Given the description of an element on the screen output the (x, y) to click on. 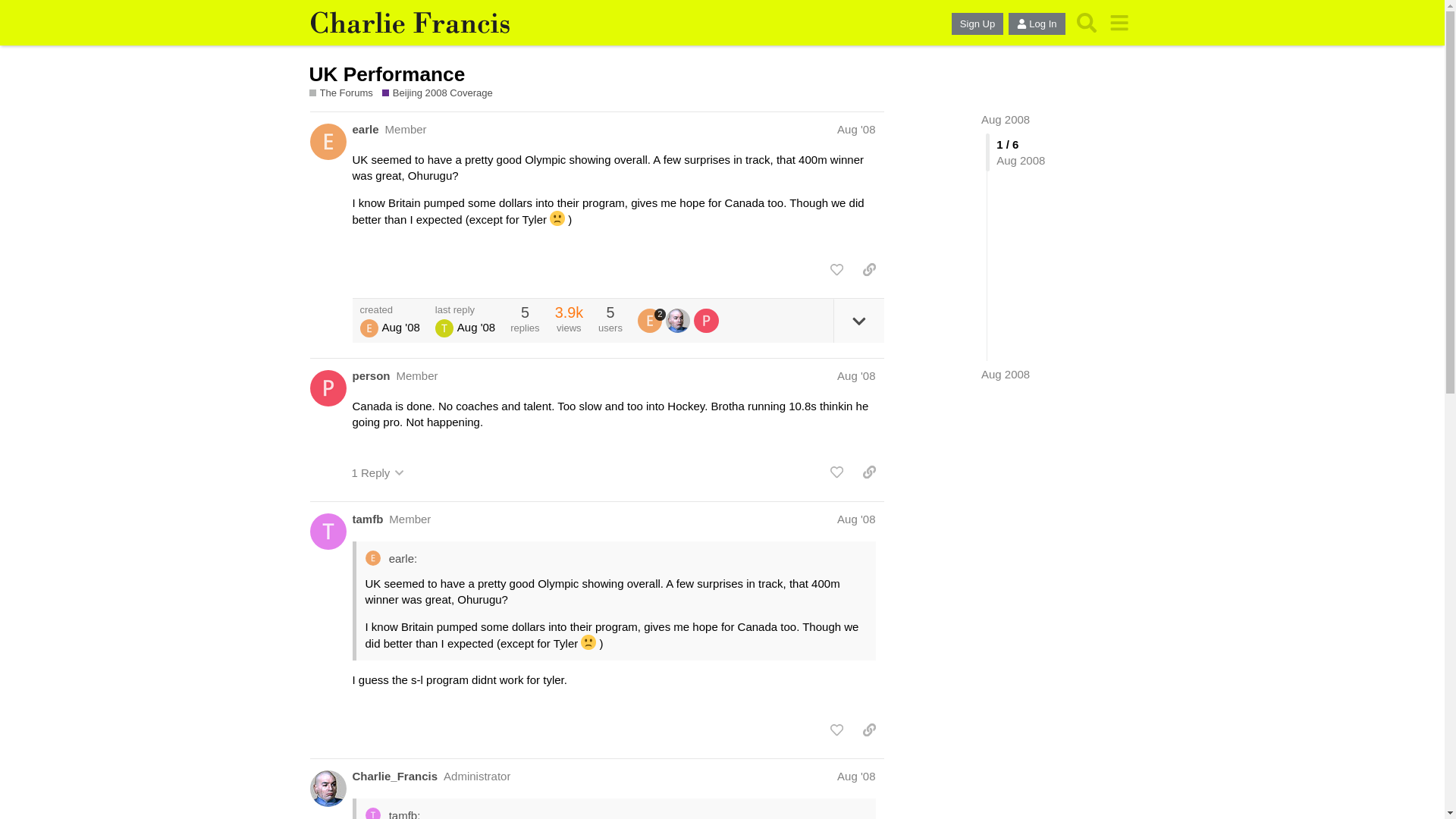
menu (1119, 22)
Aug 2008 (1005, 119)
person (371, 375)
:frowning: (557, 218)
Aug 30, 2008 6:36 am (476, 327)
Beijing 2008 Coverage (437, 92)
3940 (568, 312)
Post date (856, 128)
Log In (1036, 24)
tamfb (367, 519)
